Given the description of an element on the screen output the (x, y) to click on. 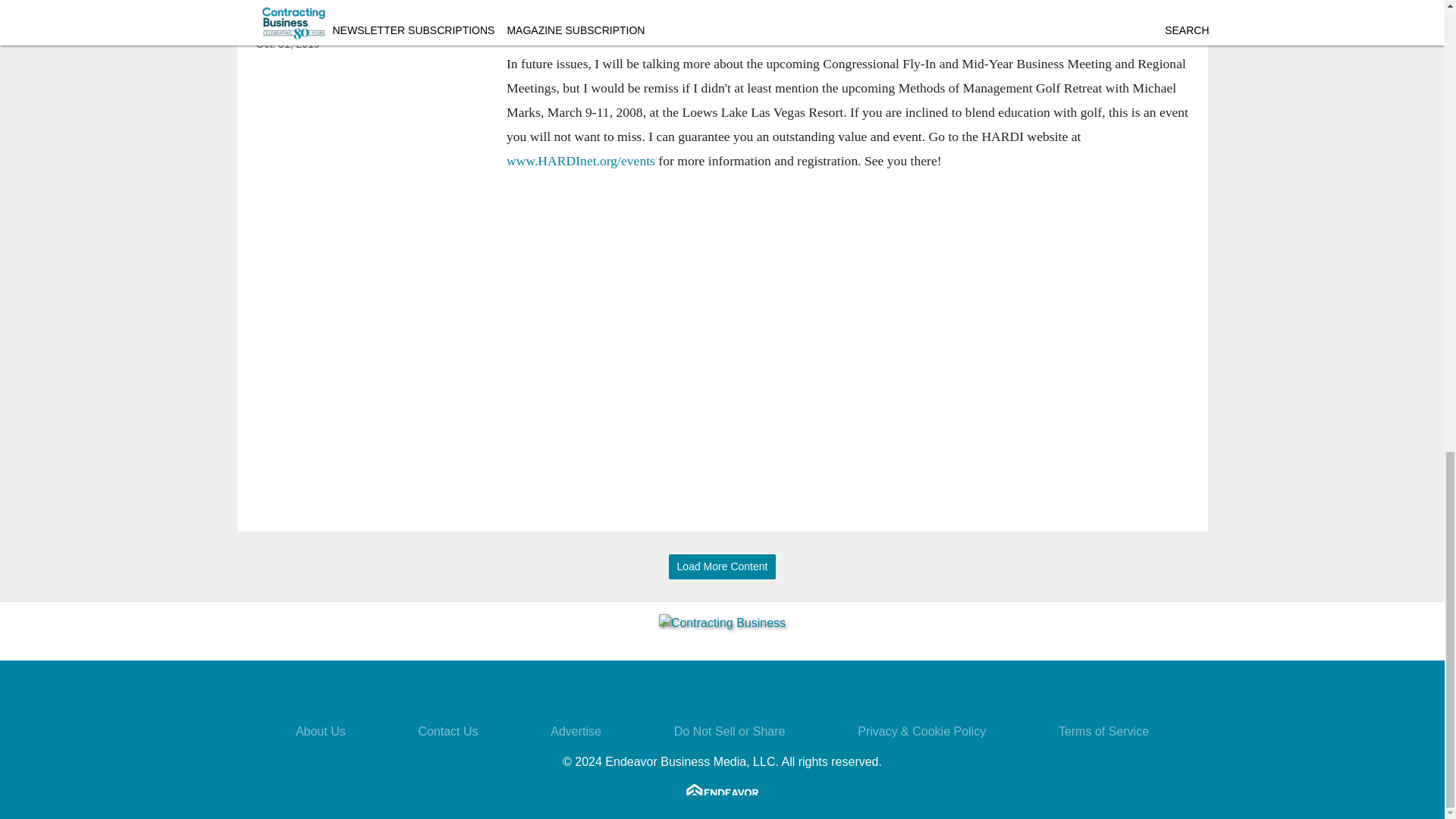
Terms of Service (1103, 730)
Advertise (575, 730)
About Us (320, 730)
HARDI Launches HARDI Hub Learning Portal (369, 13)
Load More Content (722, 566)
Do Not Sell or Share (730, 730)
Contact Us (447, 730)
